Given the description of an element on the screen output the (x, y) to click on. 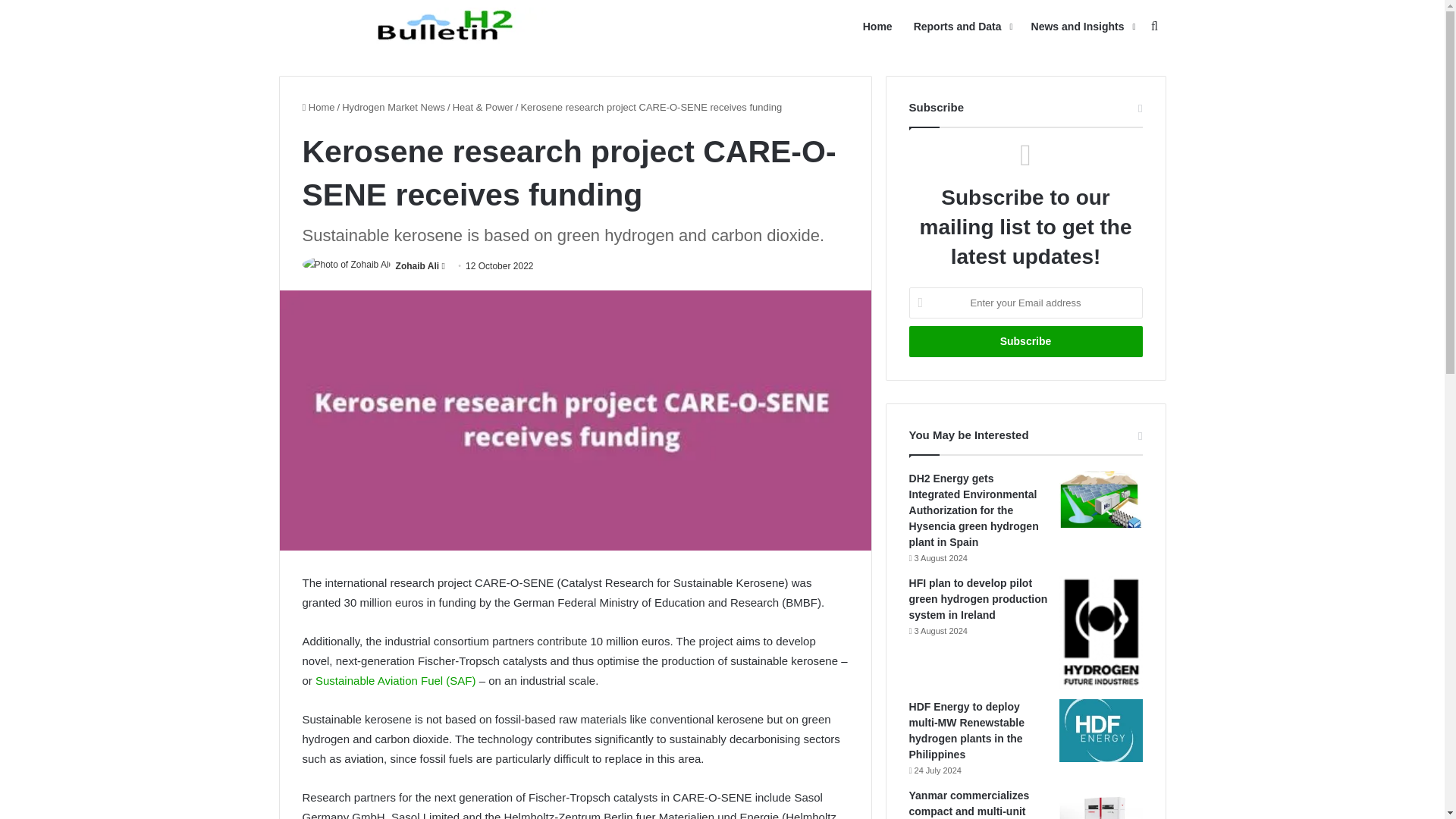
H2 Bulletin (449, 26)
Subscribe (1025, 341)
Reports and Data (961, 26)
Zohaib Ali (417, 266)
News and Insights (1081, 26)
Home (876, 26)
Home (317, 107)
Zohaib Ali (417, 266)
Subscribe (1025, 341)
Hydrogen Market News (393, 107)
Search for (1154, 26)
